Given the description of an element on the screen output the (x, y) to click on. 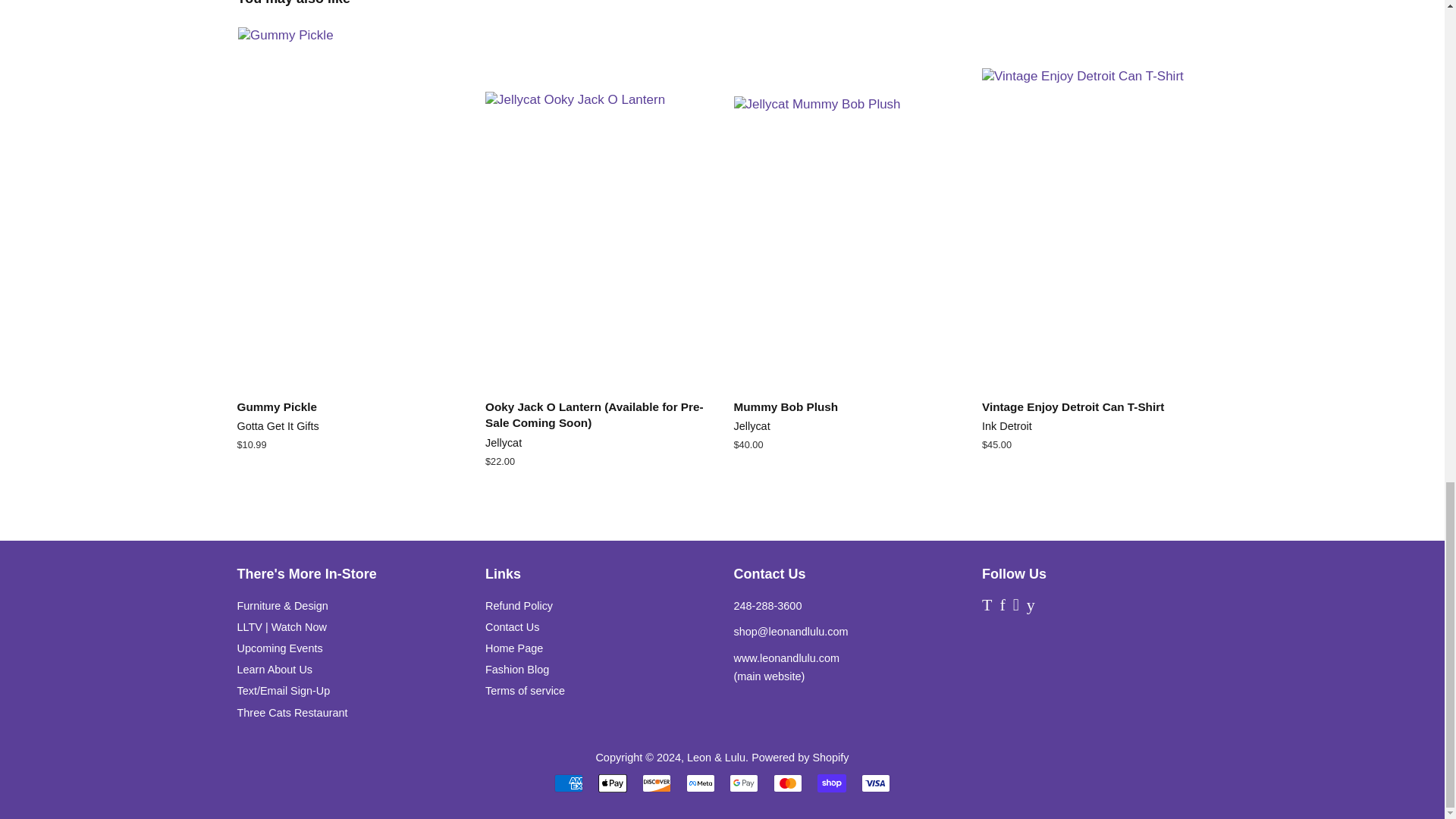
Google Pay (743, 782)
Mastercard (787, 782)
Visa (875, 782)
Discover (656, 782)
American Express (568, 782)
Meta Pay (699, 782)
Apple Pay (612, 782)
Shop Pay (830, 782)
